Given the description of an element on the screen output the (x, y) to click on. 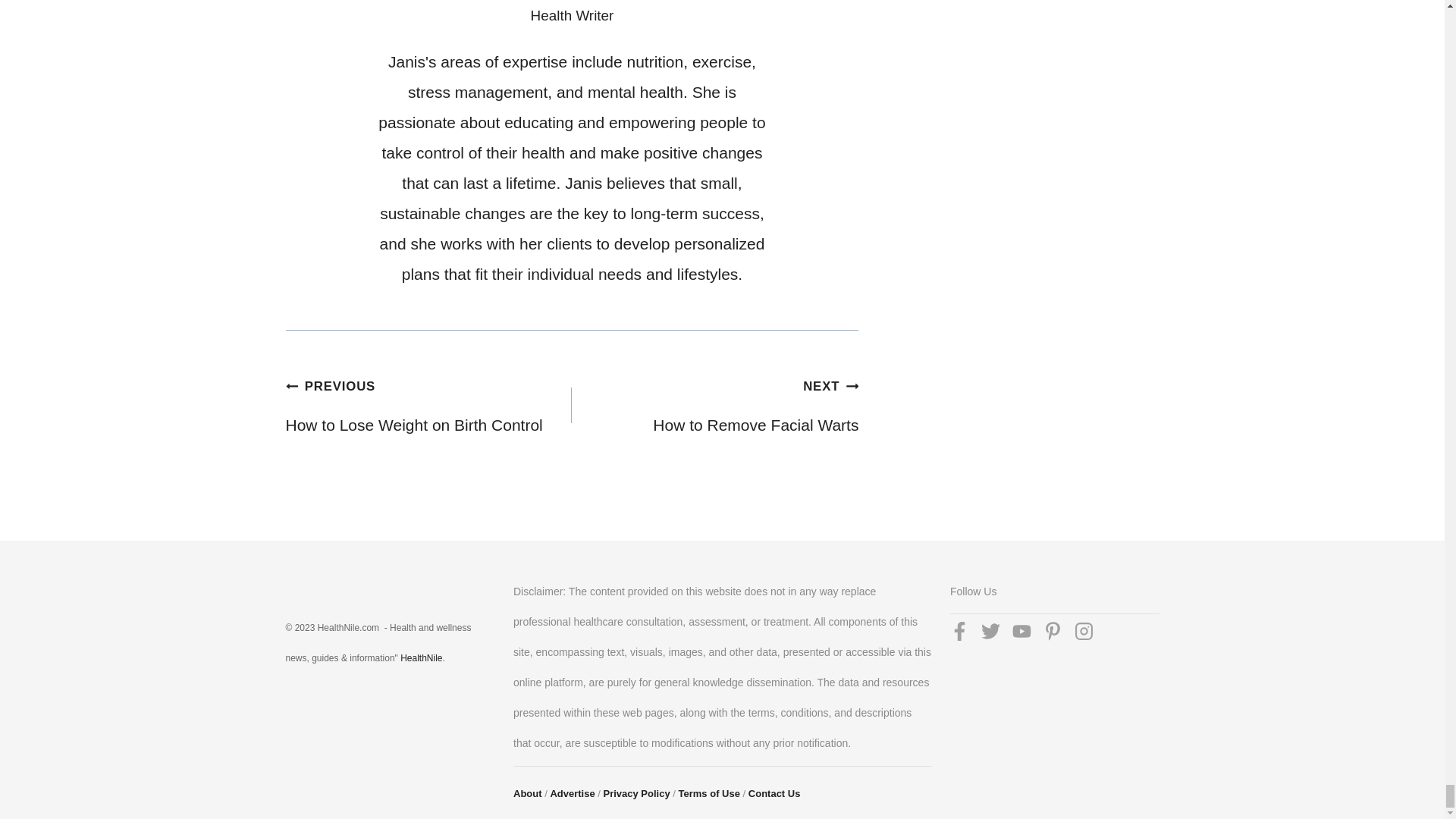
Advertise (428, 405)
Contact Us (572, 793)
Privacy Policy (774, 793)
About (636, 793)
HealthNile (715, 405)
Terms of Use (527, 793)
